Given the description of an element on the screen output the (x, y) to click on. 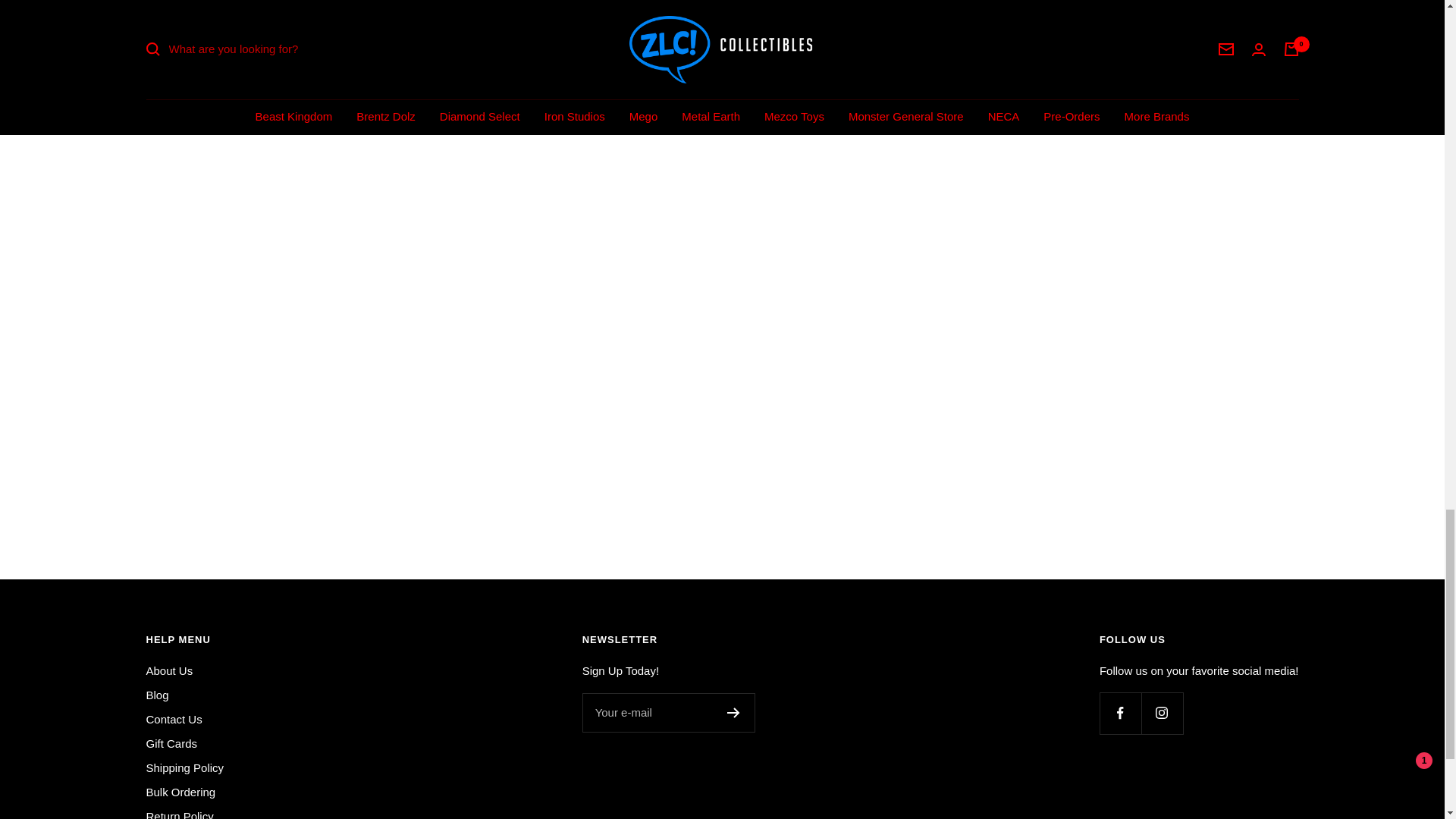
Register (732, 712)
